Given the description of an element on the screen output the (x, y) to click on. 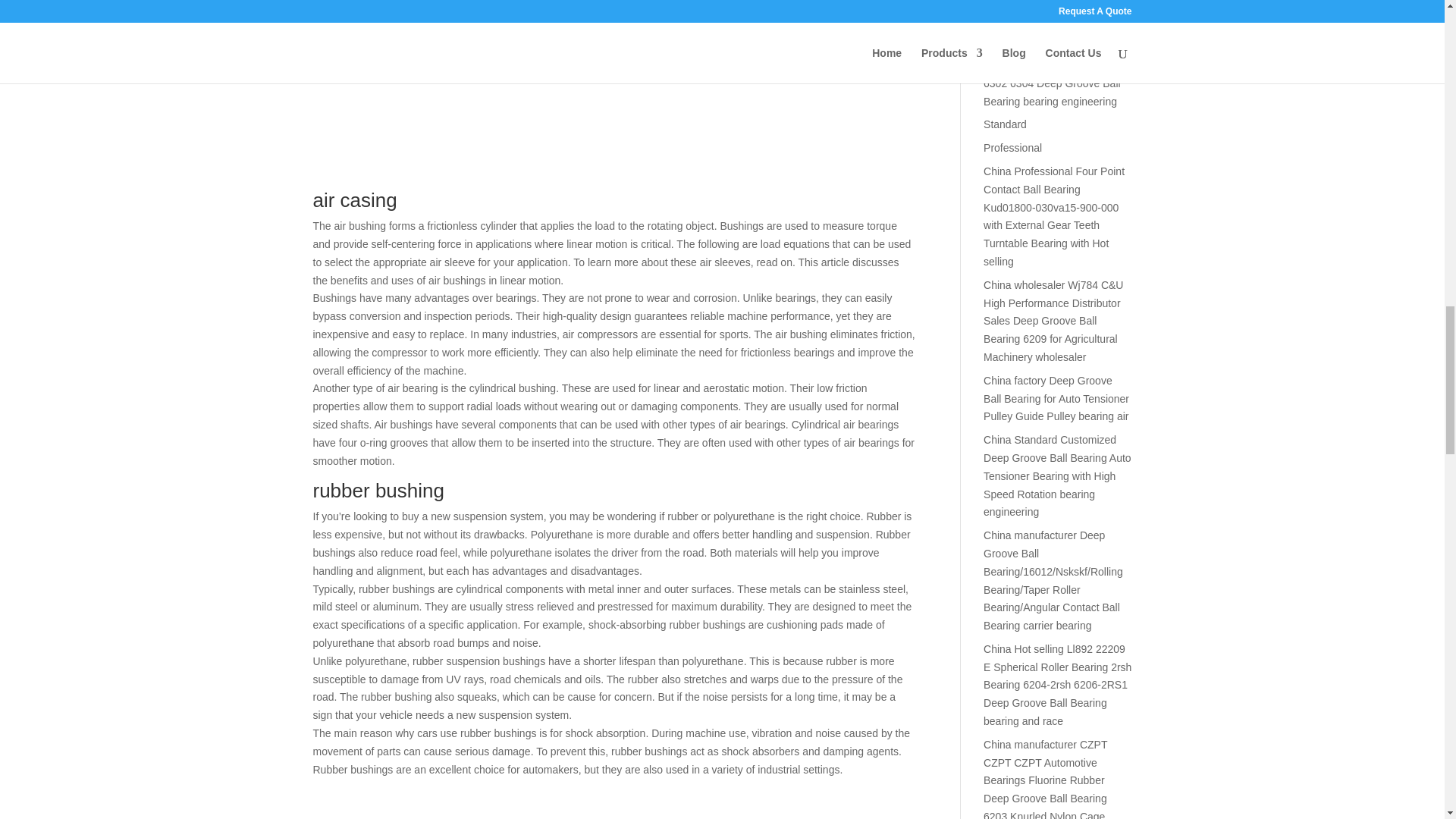
Professional (1013, 147)
Standard (1005, 123)
